Given the description of an element on the screen output the (x, y) to click on. 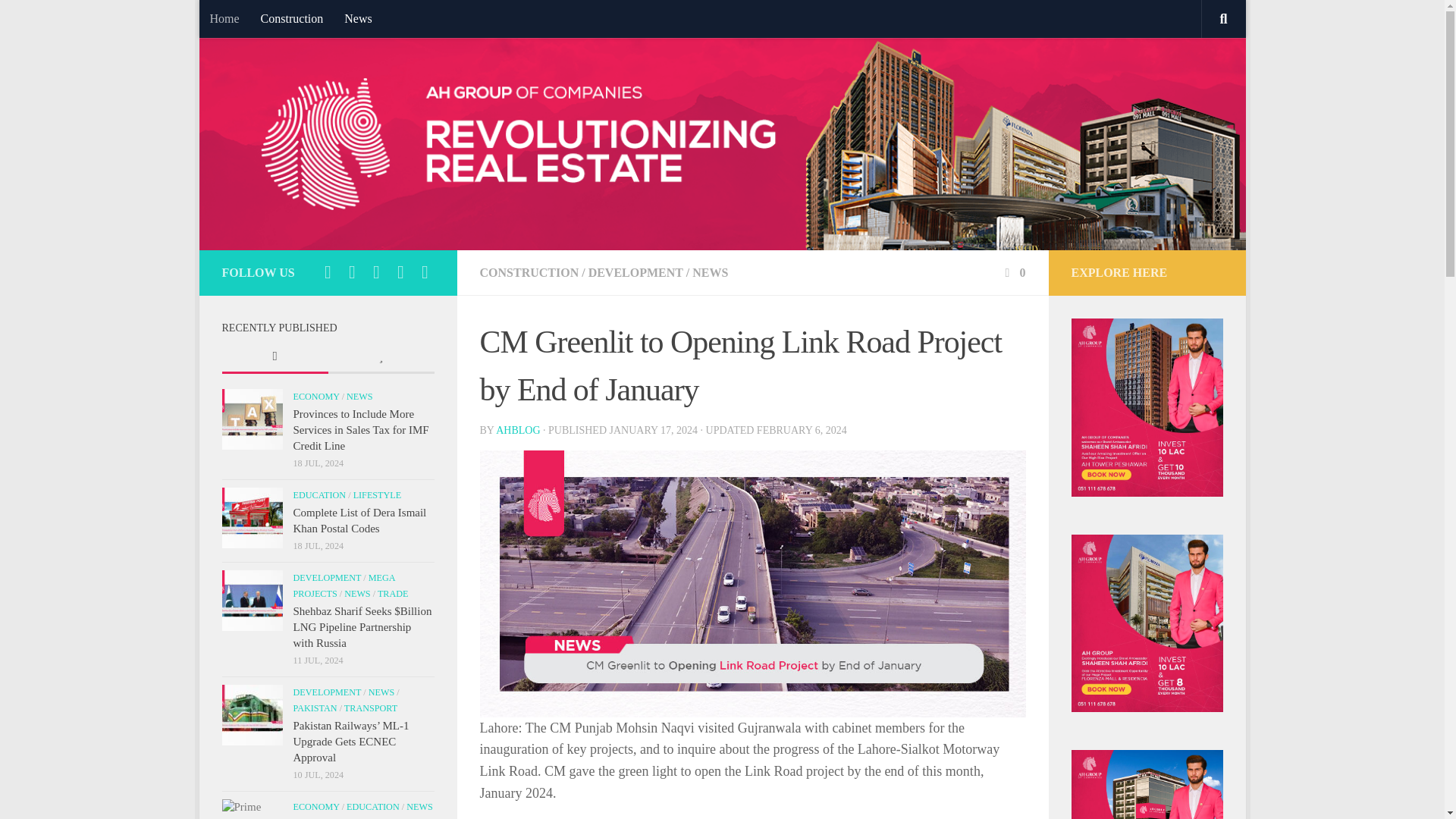
Home (223, 18)
News (357, 18)
DEVELOPMENT (635, 272)
AHBLOG (518, 430)
0 (1013, 272)
CONSTRUCTION (528, 272)
Skip to content (258, 20)
Construction (292, 18)
Posts by ahblog (518, 430)
Follow us on Facebook-square (327, 271)
NEWS (710, 272)
